Given the description of an element on the screen output the (x, y) to click on. 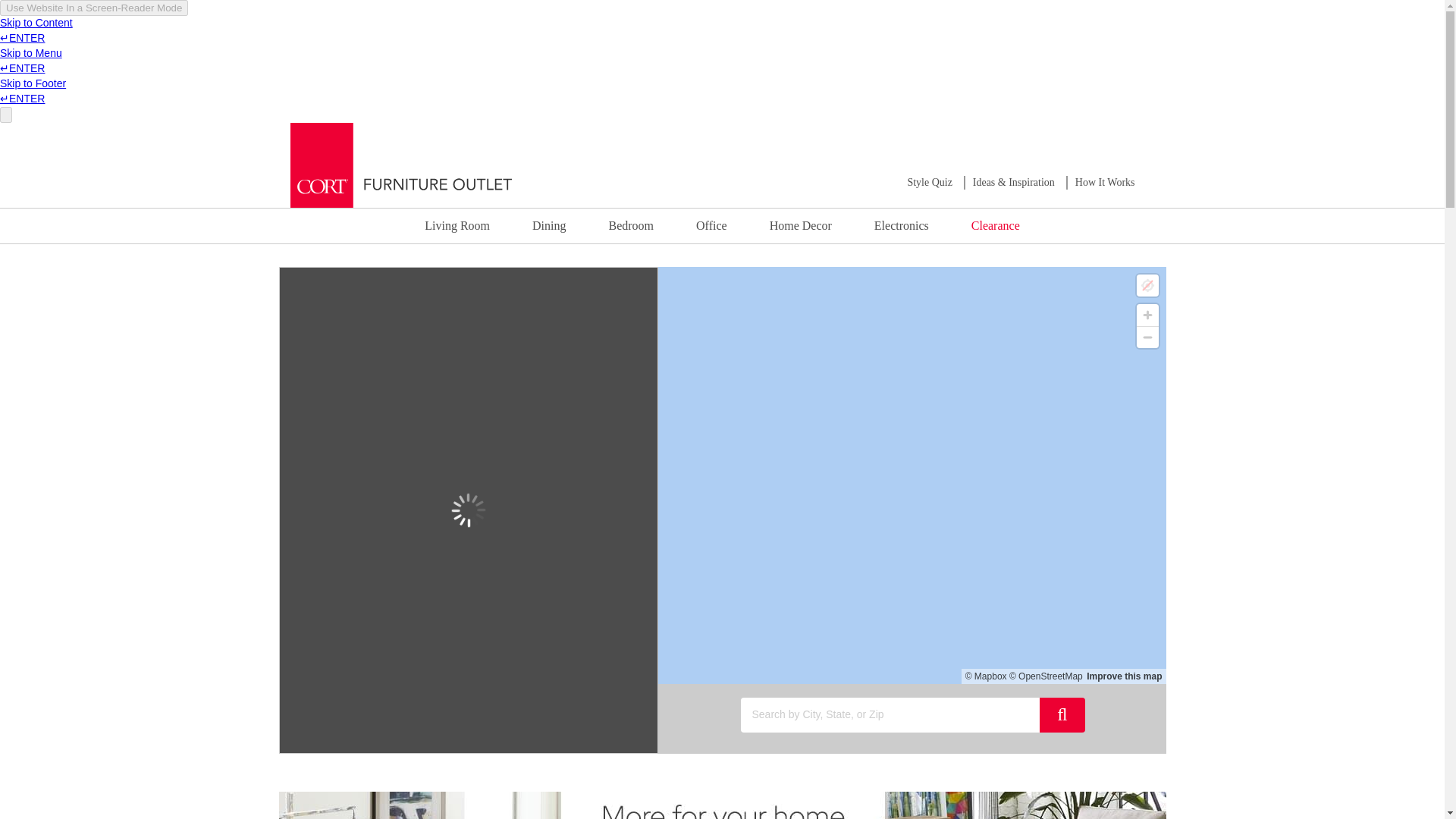
OpenStreetMap (1046, 675)
Home Decor (800, 225)
Clearance (995, 225)
Bedroom (630, 225)
Style Quiz (929, 182)
Find my location (1146, 285)
Electronics (901, 225)
Zoom in (1146, 314)
Improve this map (1123, 675)
Dining (548, 225)
